Given the description of an element on the screen output the (x, y) to click on. 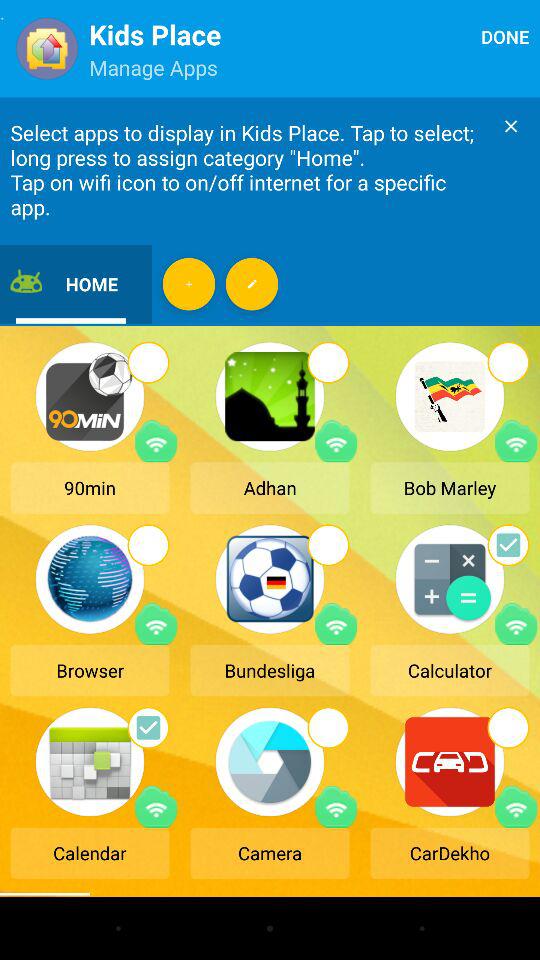
wifi connection (156, 806)
